Given the description of an element on the screen output the (x, y) to click on. 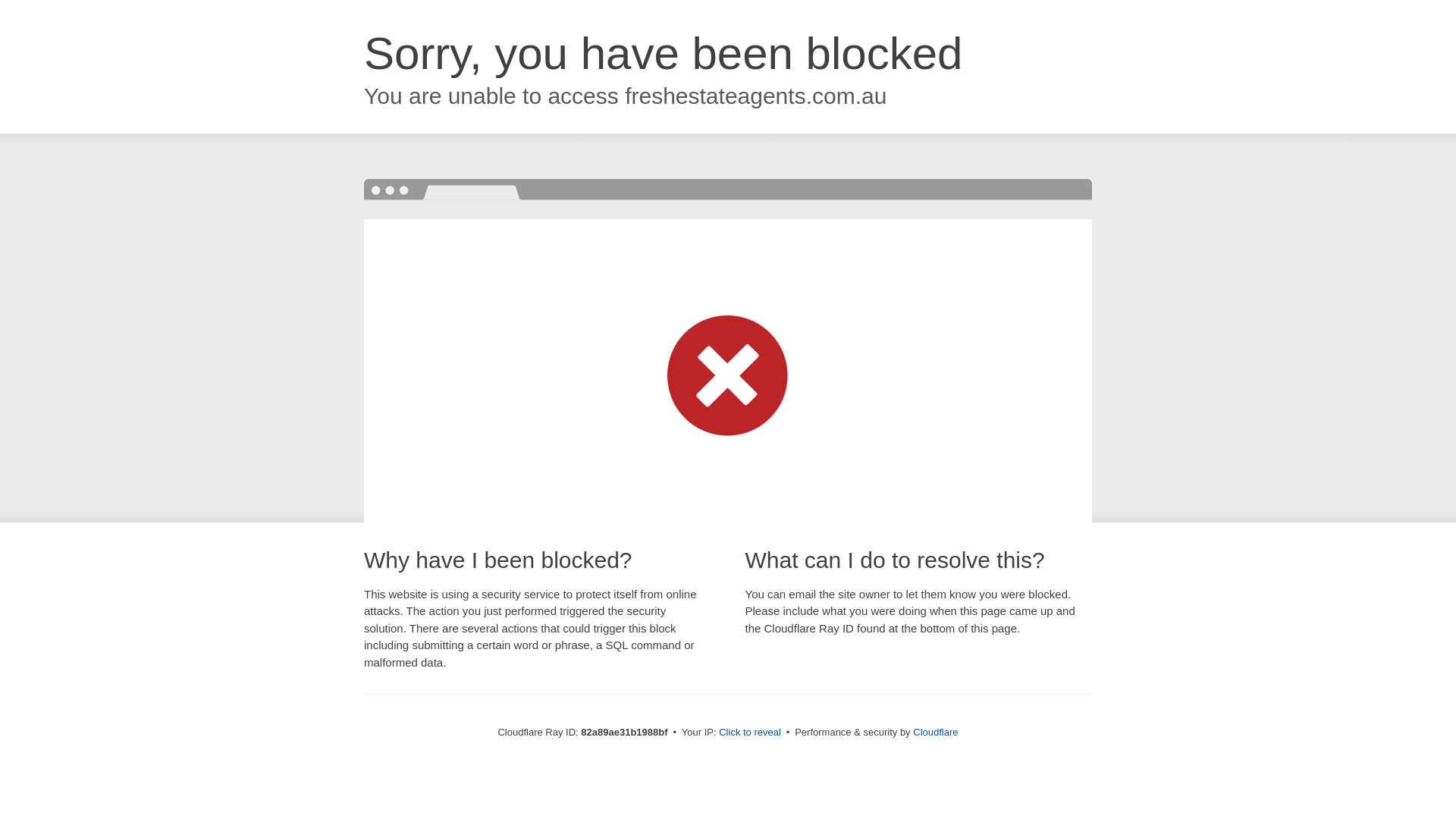
Cloudflare Element type: text (935, 731)
Click to reveal Element type: text (749, 732)
